Given the description of an element on the screen output the (x, y) to click on. 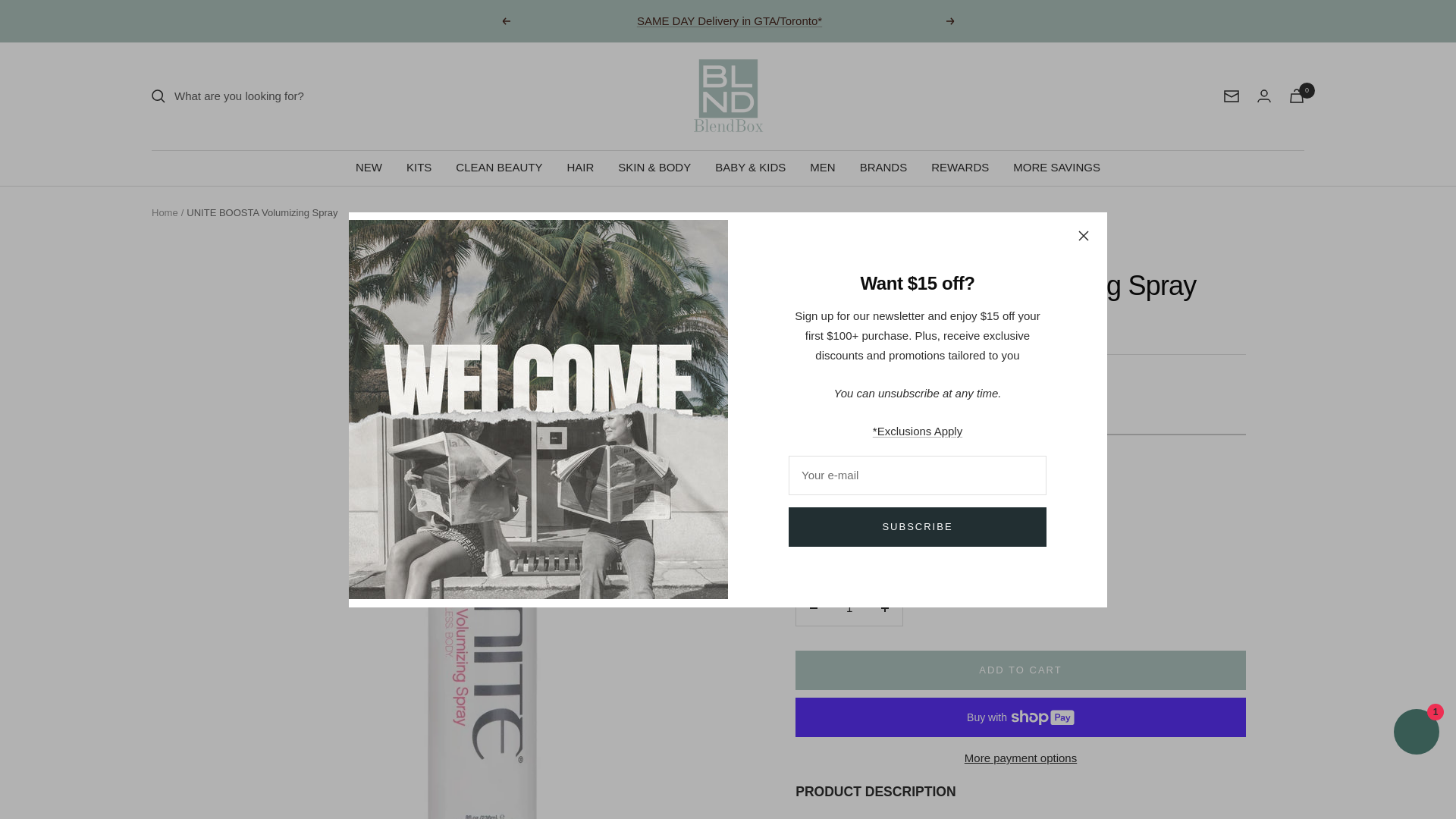
MEN (821, 167)
BRANDS (883, 167)
SUBSCRIBE (917, 526)
NEW (368, 167)
1 (849, 607)
REWARDS (959, 167)
Close (1083, 235)
Promotion Exclusions (917, 431)
Shopify online store chat (1416, 733)
Increase quantity (884, 607)
Previous (504, 21)
ADD TO CART (1020, 670)
"Blend Benefits" (895, 415)
BlendBox (727, 96)
Decrease quantity (813, 607)
